Given the description of an element on the screen output the (x, y) to click on. 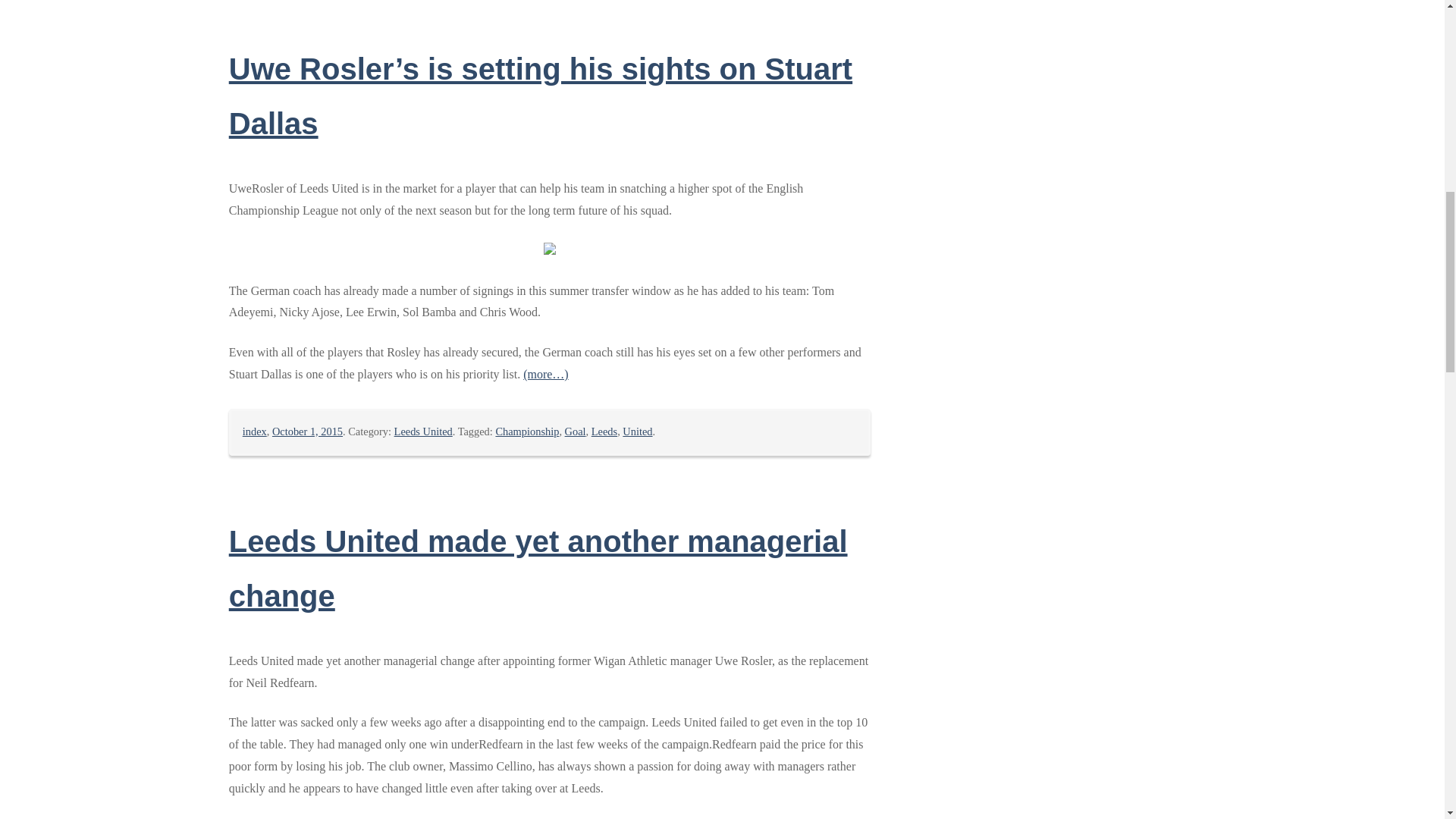
index (254, 431)
Leeds United made yet another managerial change (537, 568)
Championship (527, 431)
October 1, 2015 (307, 431)
Leeds (604, 431)
Leeds United (423, 431)
United (637, 431)
View all posts by index (254, 431)
Goal (575, 431)
